Given the description of an element on the screen output the (x, y) to click on. 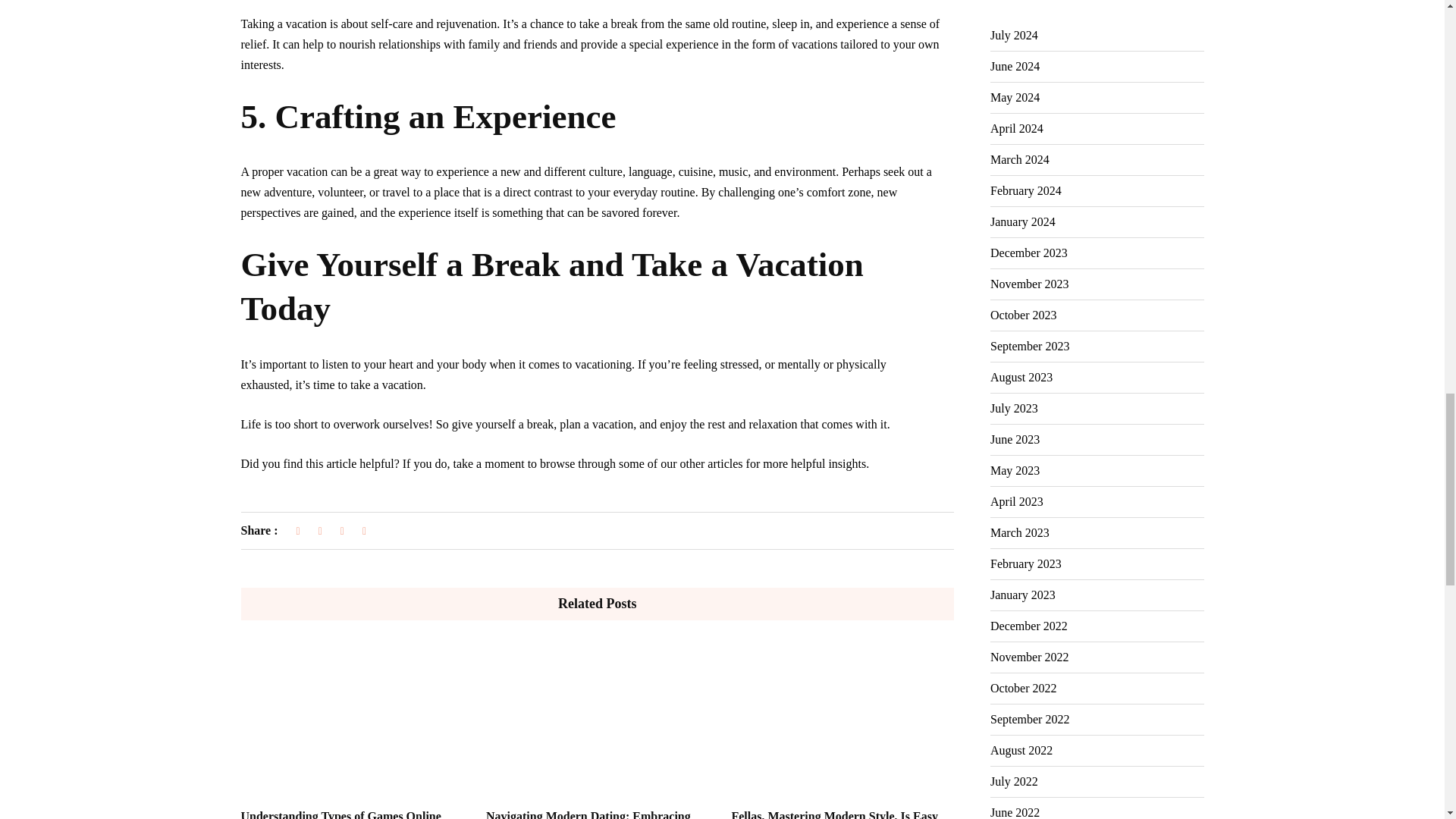
June 2024 (1014, 66)
July 2024 (1014, 35)
Understanding Types of Games Online (341, 814)
